Given the description of an element on the screen output the (x, y) to click on. 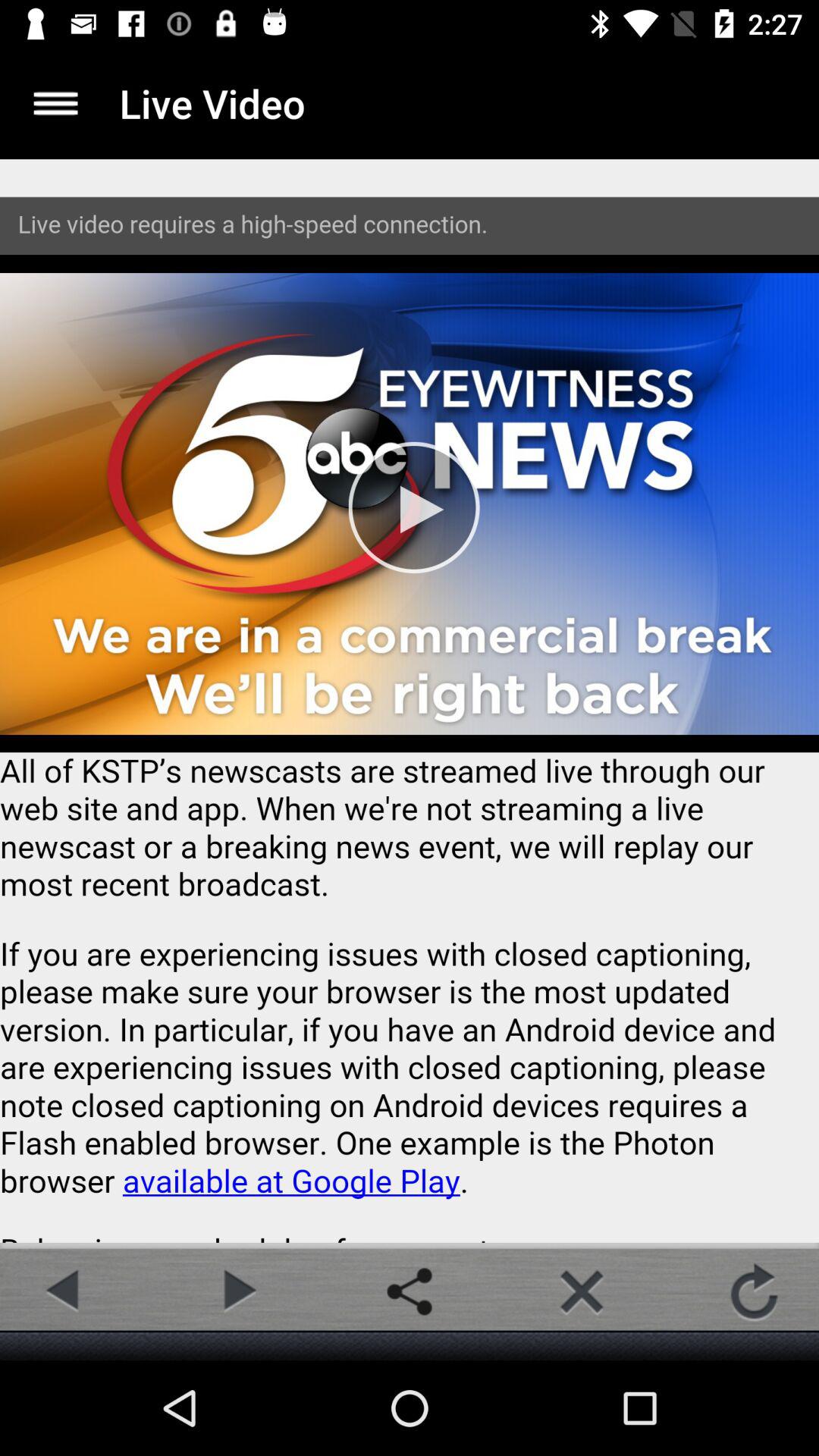
close (581, 1291)
